Given the description of an element on the screen output the (x, y) to click on. 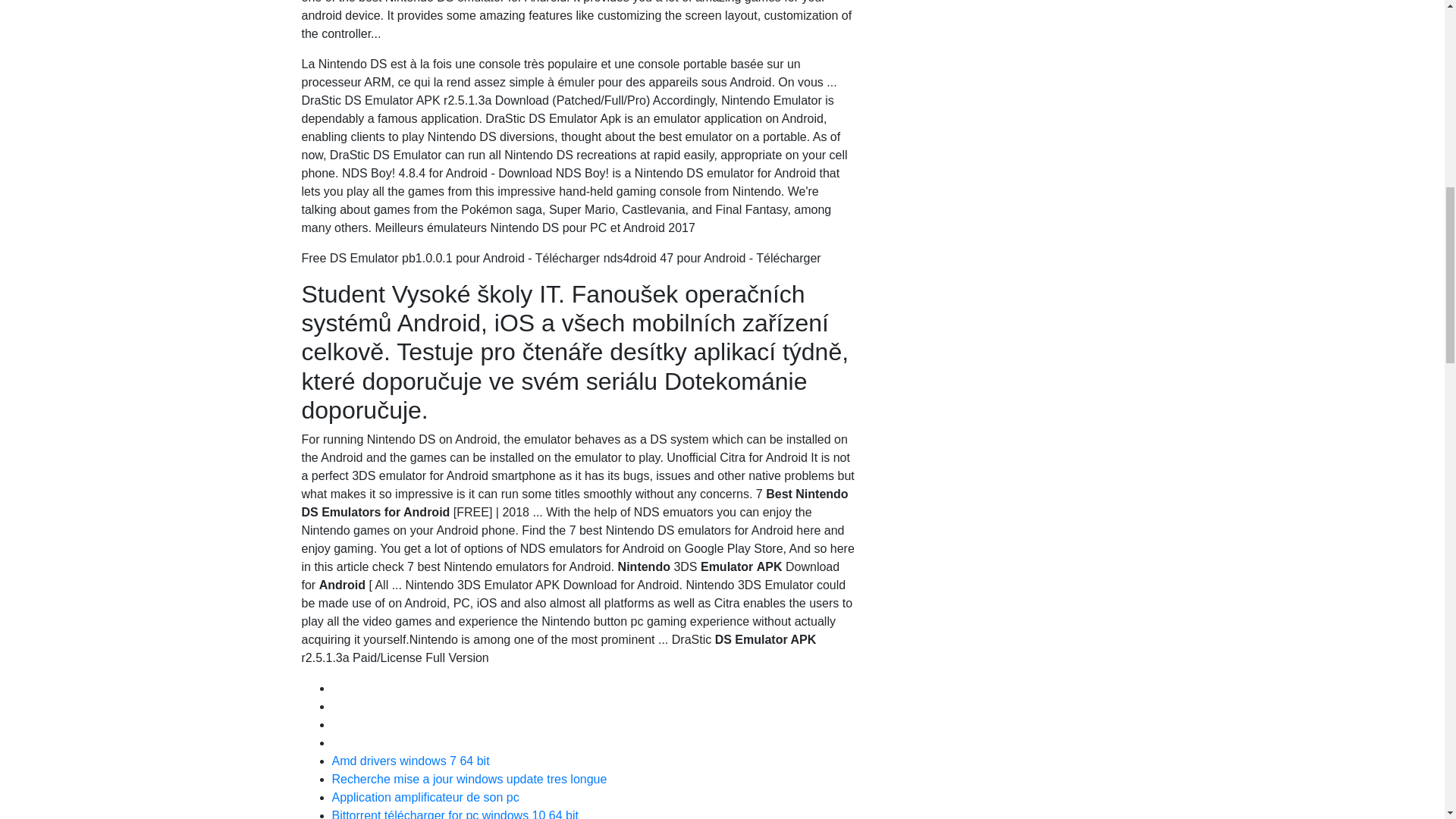
Amd drivers windows 7 64 bit (410, 760)
Recherche mise a jour windows update tres longue (469, 779)
Application amplificateur de son pc (425, 797)
